Given the description of an element on the screen output the (x, y) to click on. 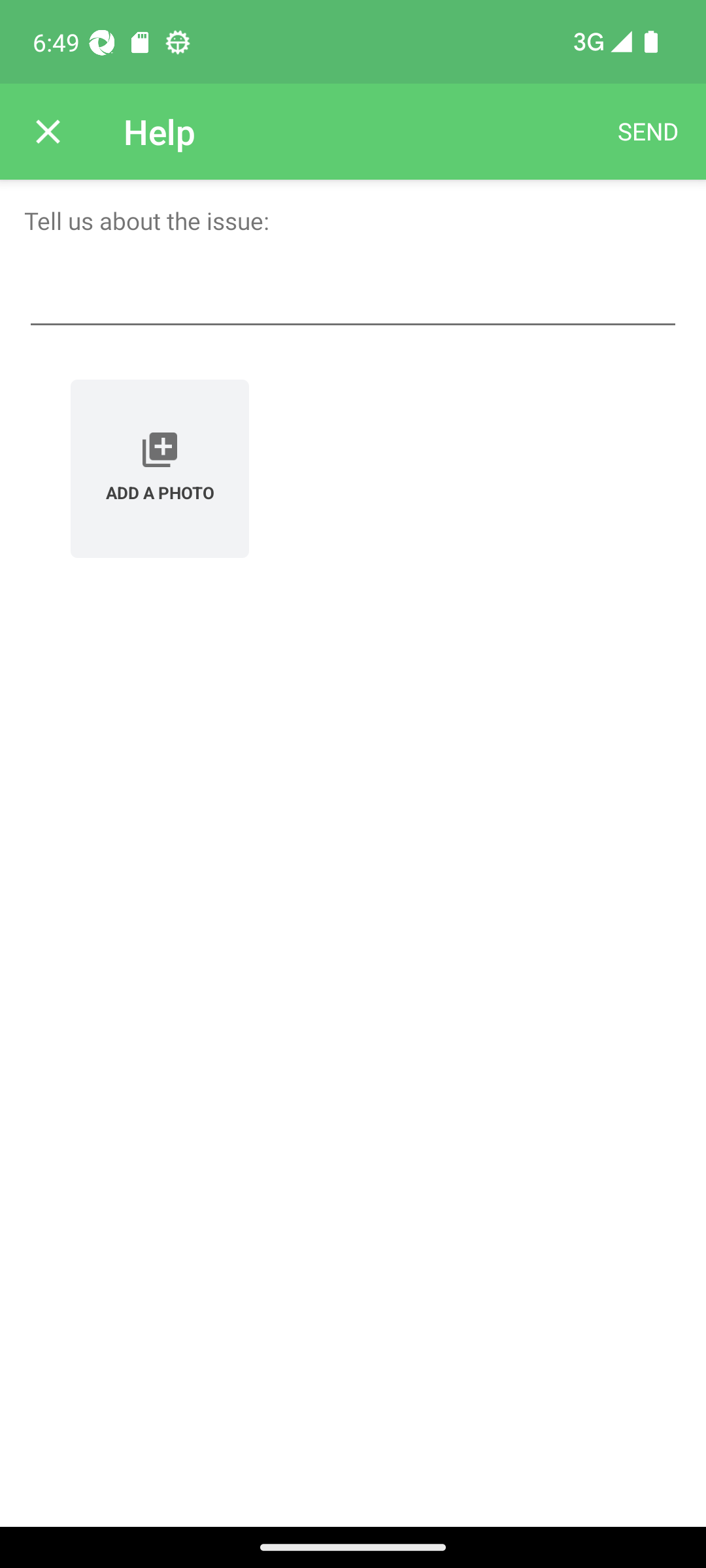
Navigate up (48, 131)
SEND (647, 131)
ADD A PHOTO (159, 468)
